Given the description of an element on the screen output the (x, y) to click on. 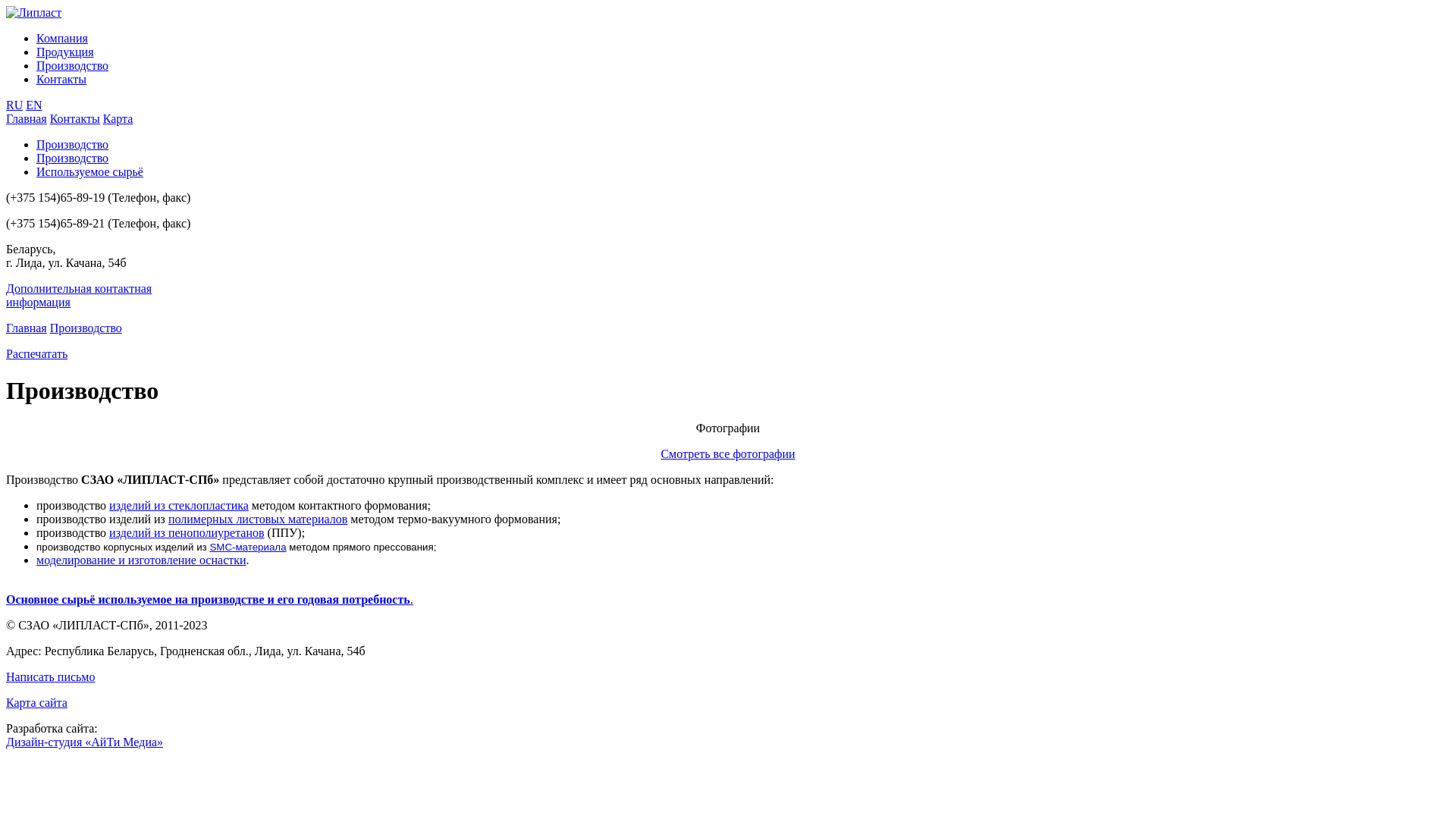
EN Element type: text (33, 104)
RU Element type: text (14, 104)
